Given the description of an element on the screen output the (x, y) to click on. 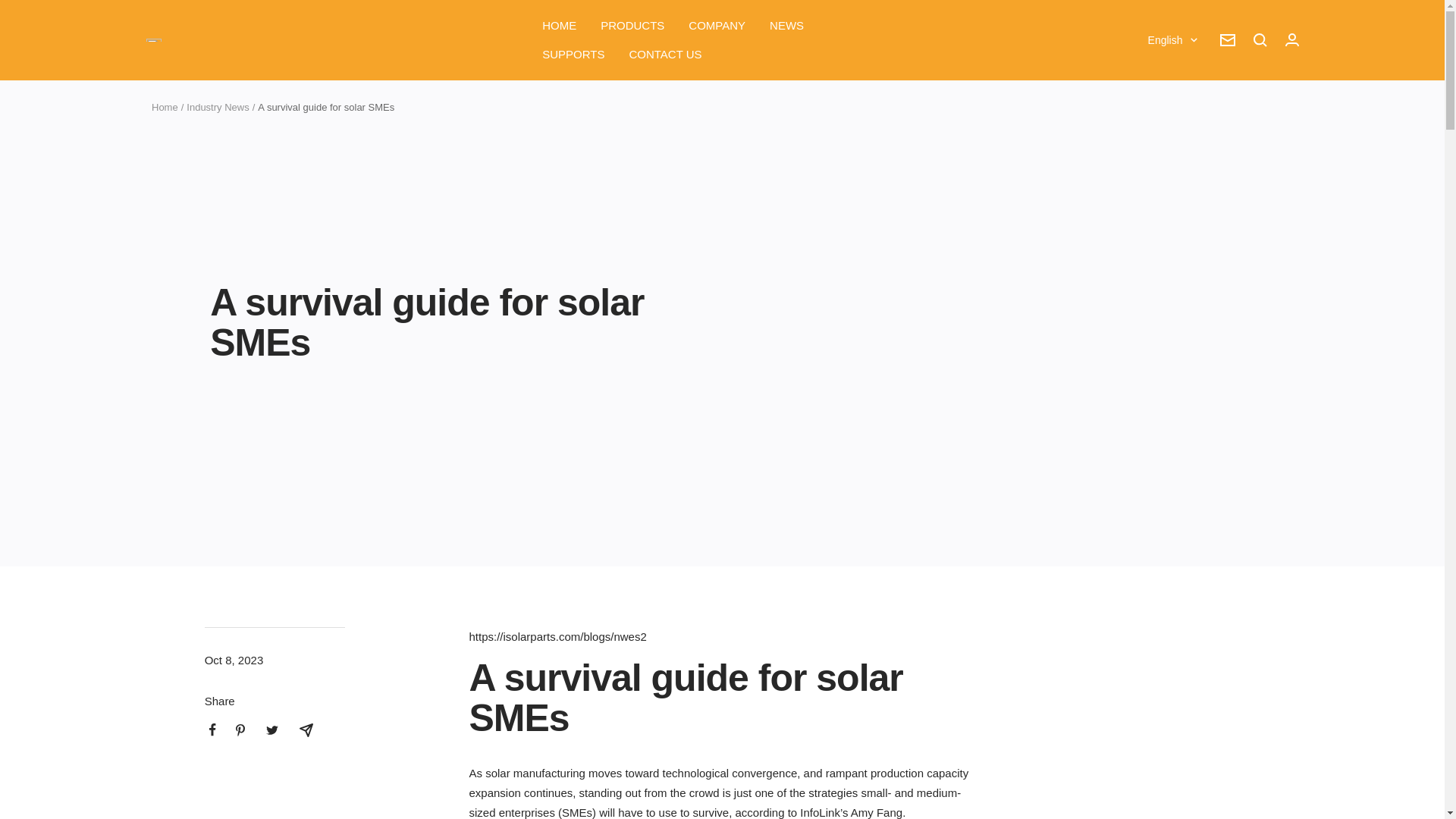
CONTACT US (664, 54)
HOME (558, 25)
Industry News (217, 107)
it (1162, 217)
ru (1162, 267)
fr (1162, 142)
SUPPORTS (572, 54)
Newsletter (1227, 39)
es (1162, 192)
de (1162, 117)
COMPANY (716, 25)
en (1162, 92)
ja (1162, 167)
PRODUCTS (631, 25)
ko (1162, 242)
